Given the description of an element on the screen output the (x, y) to click on. 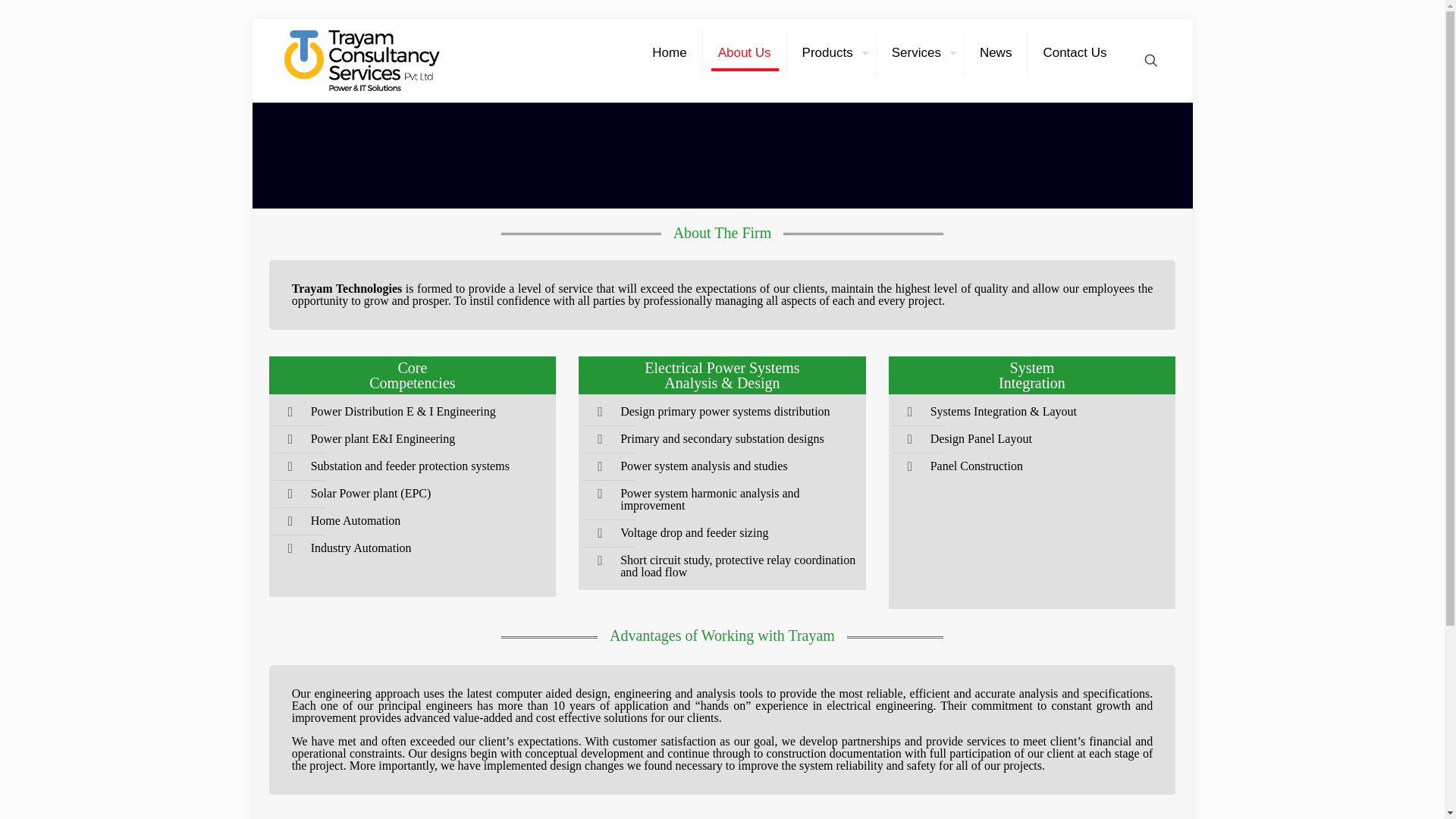
Products (831, 52)
Services (919, 52)
Trayam Technologies (361, 60)
Home (669, 52)
News (995, 52)
About Us (745, 52)
Contact Us (1074, 52)
